Given the description of an element on the screen output the (x, y) to click on. 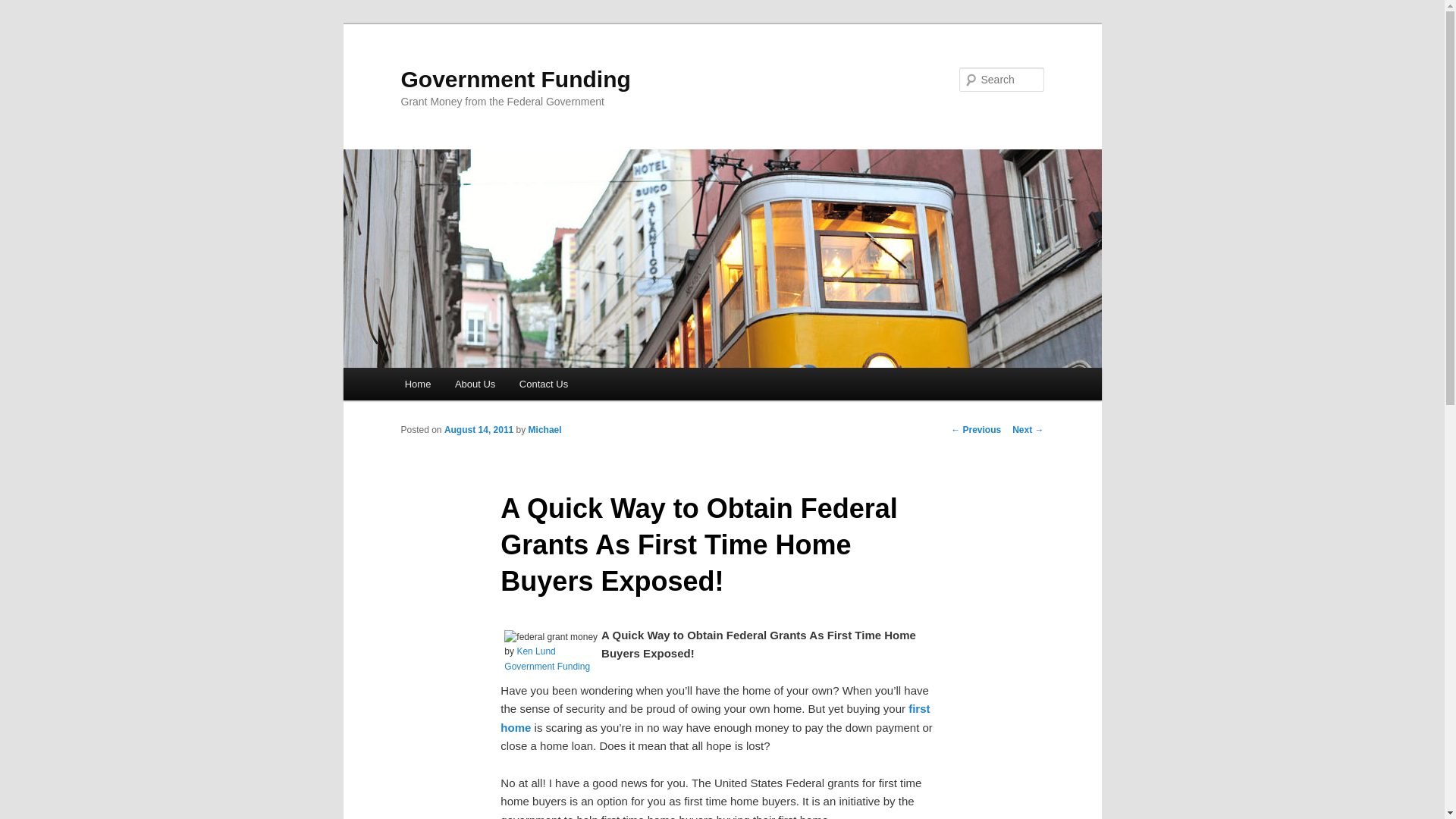
Search (24, 8)
first home (715, 717)
August 14, 2011 (478, 429)
Government Funding (546, 665)
Contact Us (542, 383)
Ken Lund (535, 651)
Home (417, 383)
Michael (545, 429)
First time home buyer (715, 717)
8:00 am (478, 429)
Government Funding (515, 78)
View all posts by Michael (545, 429)
About Us (474, 383)
